Given the description of an element on the screen output the (x, y) to click on. 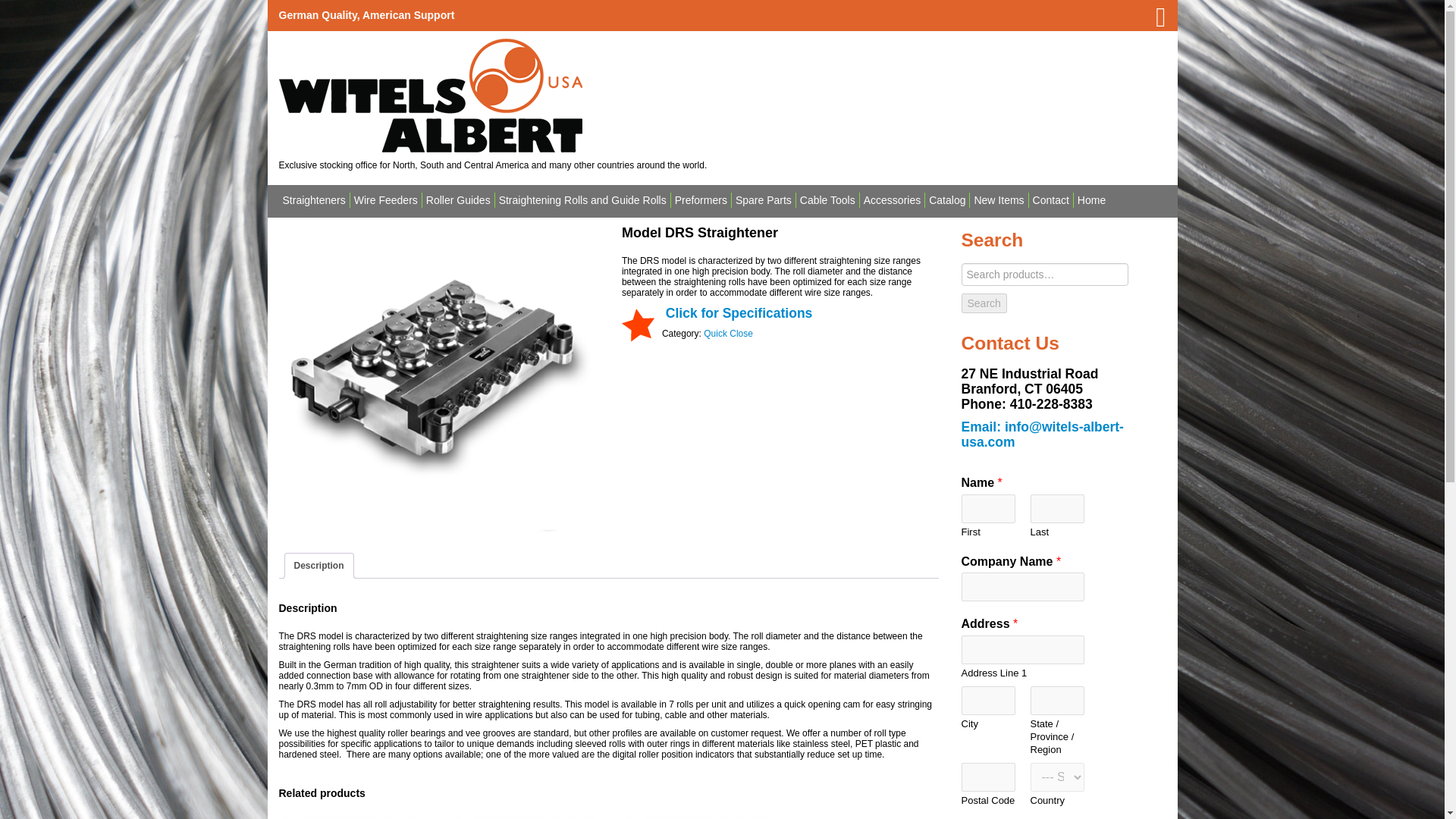
Spare Parts (763, 200)
Model DRS straightener (437, 375)
New Items (998, 200)
Search (983, 302)
Model RS Straighteners (694, 817)
Model NT Straighteners (522, 817)
Wire Feeders (385, 200)
Description (318, 565)
Quick Close (727, 333)
Cable Tools (827, 200)
Home (1091, 200)
Preformers (700, 200)
Catalog (946, 200)
Contact (1050, 200)
Accessories (891, 200)
